Given the description of an element on the screen output the (x, y) to click on. 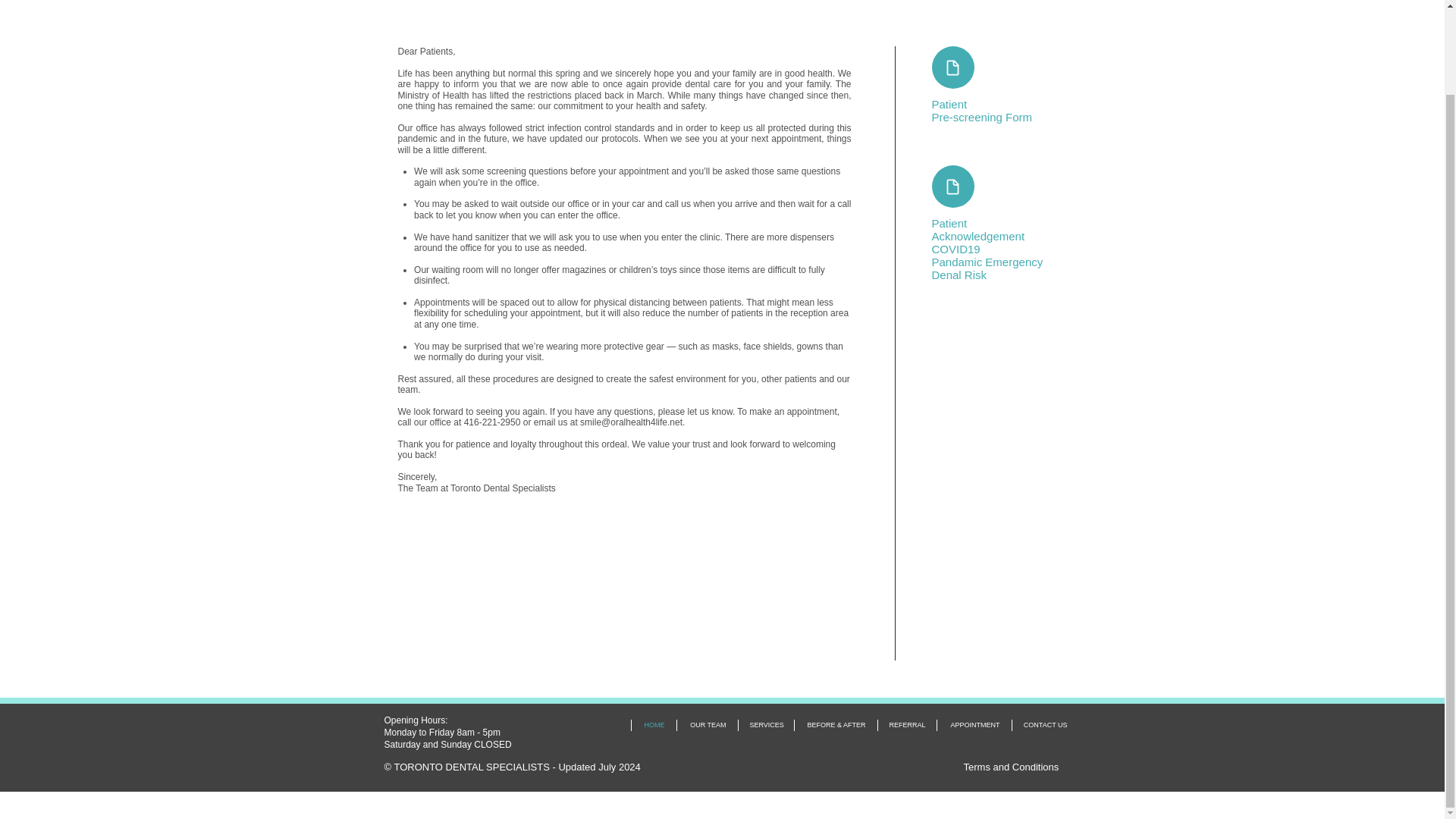
SERVICES (764, 725)
APPOINTMENT (973, 725)
HOME (653, 725)
REFERRAL (906, 725)
OUR TEAM (707, 725)
CONTACT US (1044, 725)
Terms and Conditions (1010, 767)
